Given the description of an element on the screen output the (x, y) to click on. 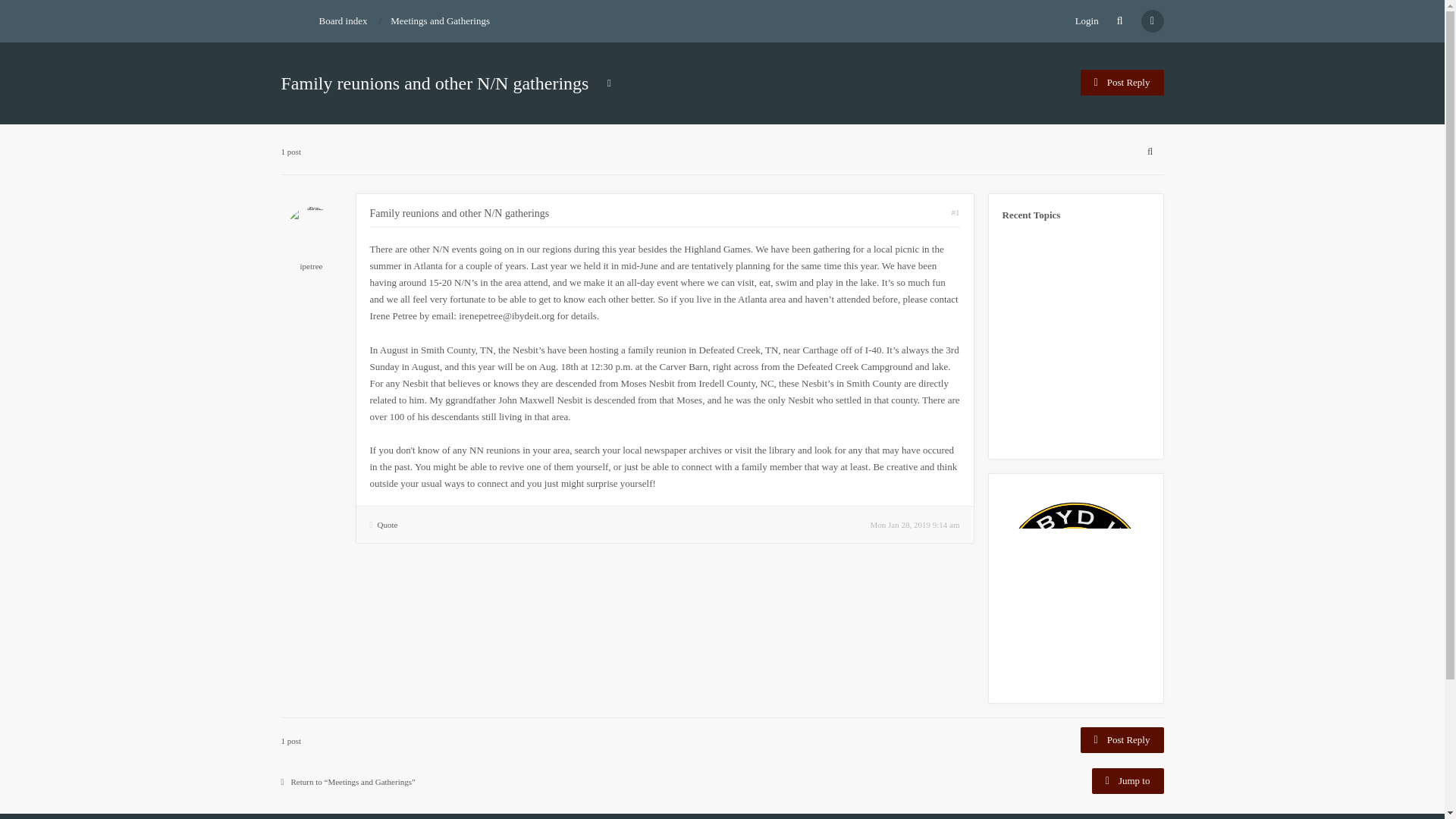
Jump to (1127, 780)
Login (1087, 20)
ipetree (311, 266)
Meetings and Gatherings (439, 20)
Post a reply (1121, 739)
Post a reply (1121, 82)
Reply with quote (383, 524)
Board index (342, 20)
Post Reply (1121, 82)
Post Reply (1121, 739)
